Given the description of an element on the screen output the (x, y) to click on. 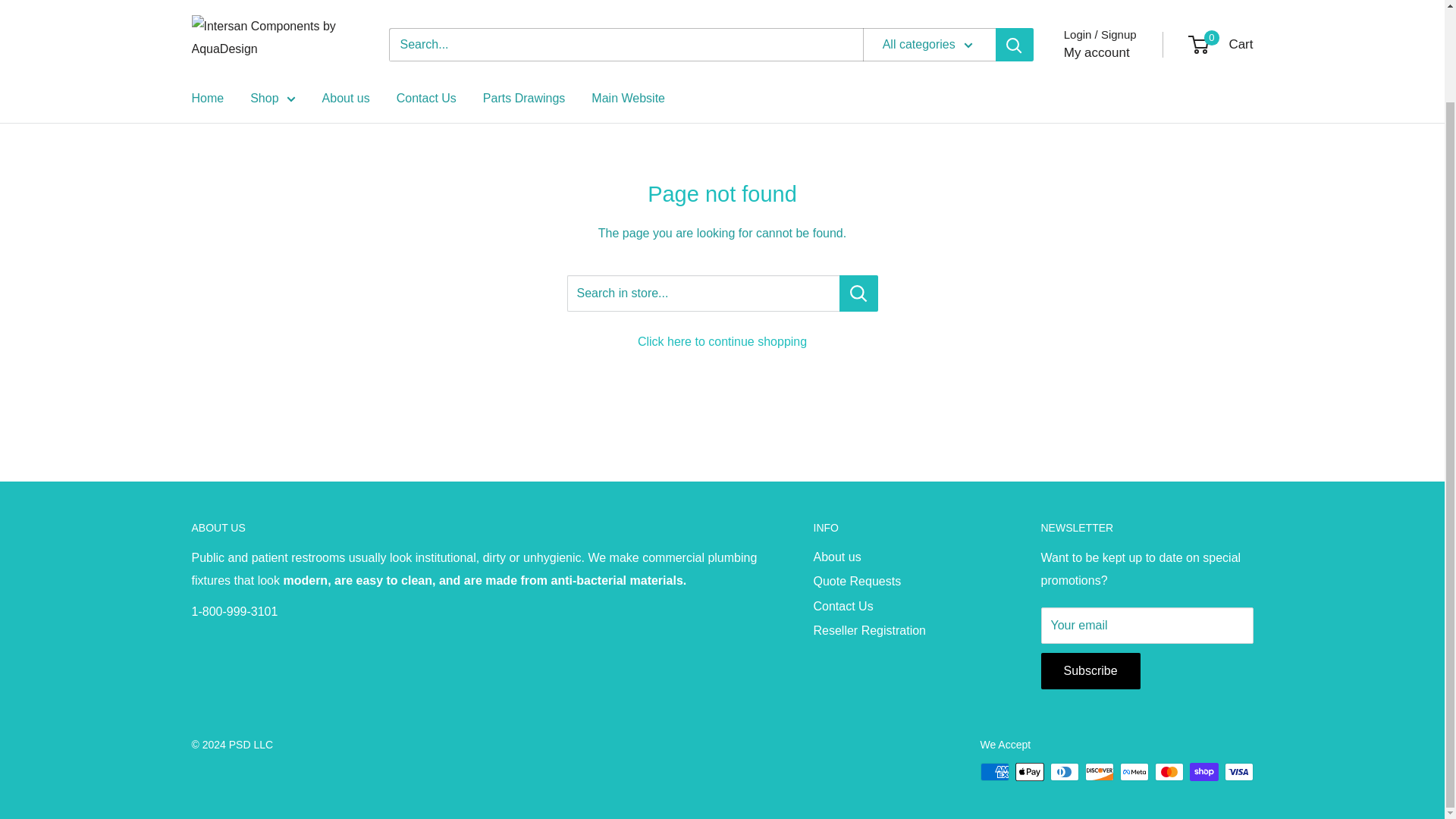
Shop (272, 24)
Home (207, 24)
